Given the description of an element on the screen output the (x, y) to click on. 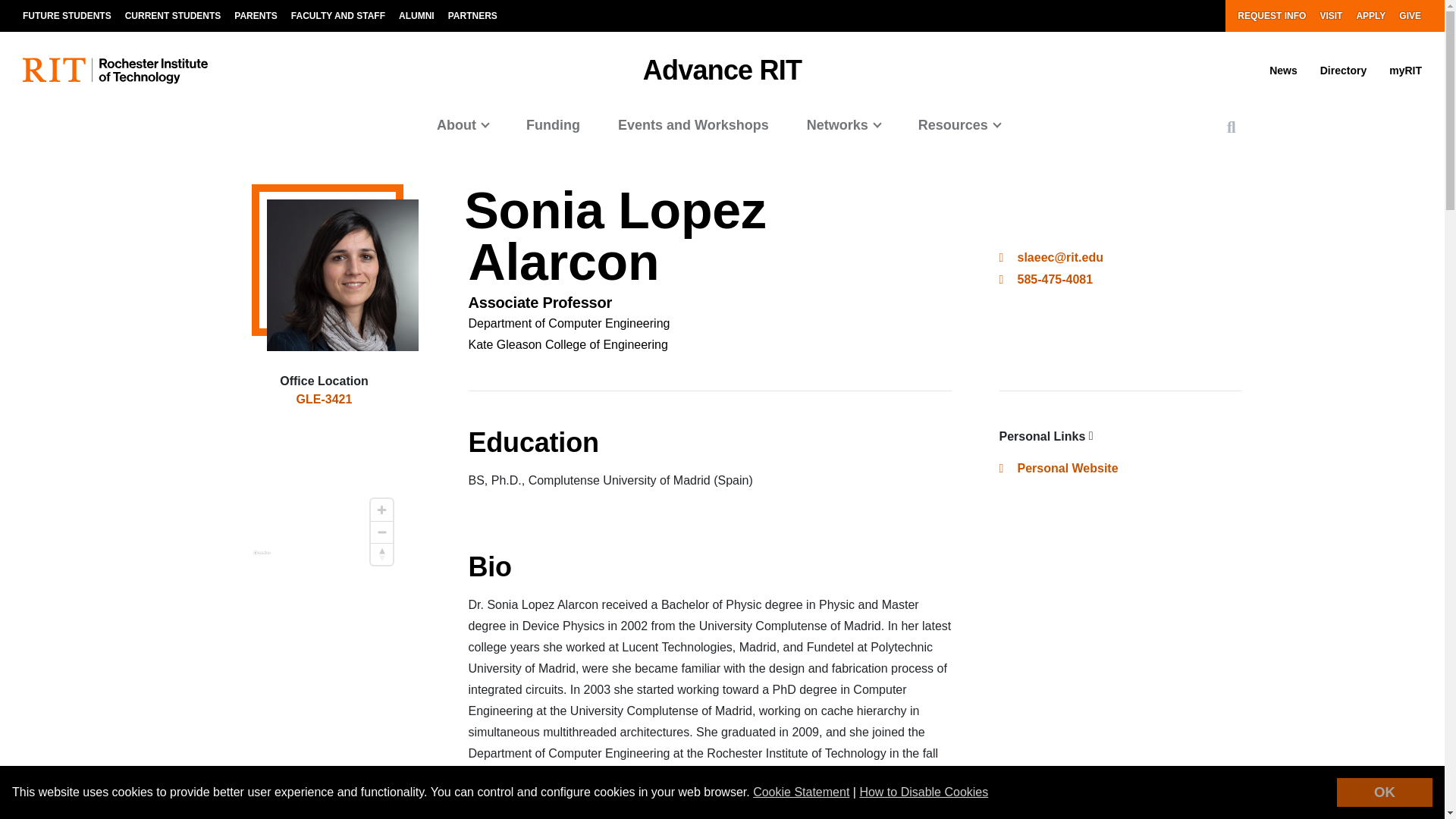
RIT logo and full name (115, 70)
Map showing office location (324, 496)
